Given the description of an element on the screen output the (x, y) to click on. 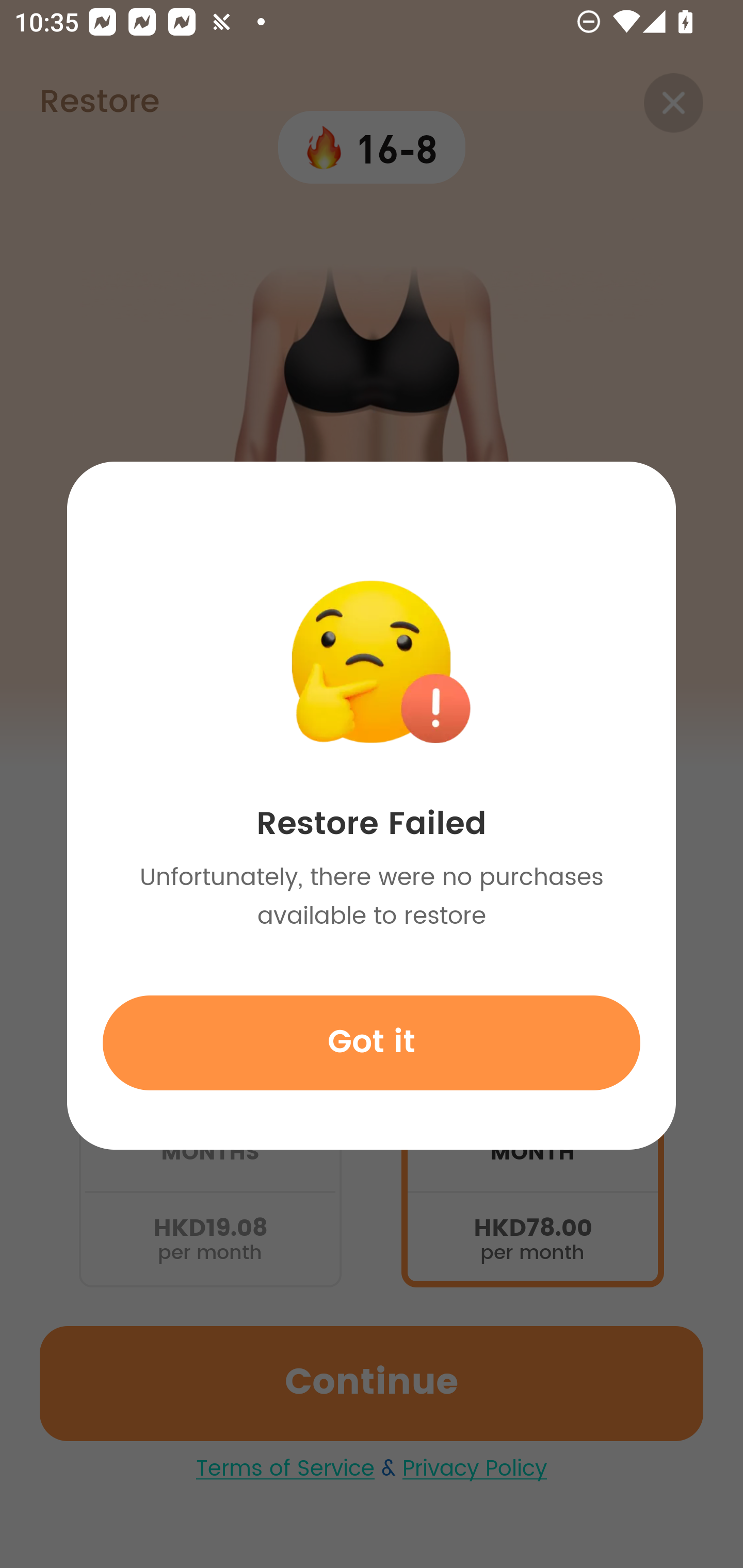
Got it (371, 1042)
